Given the description of an element on the screen output the (x, y) to click on. 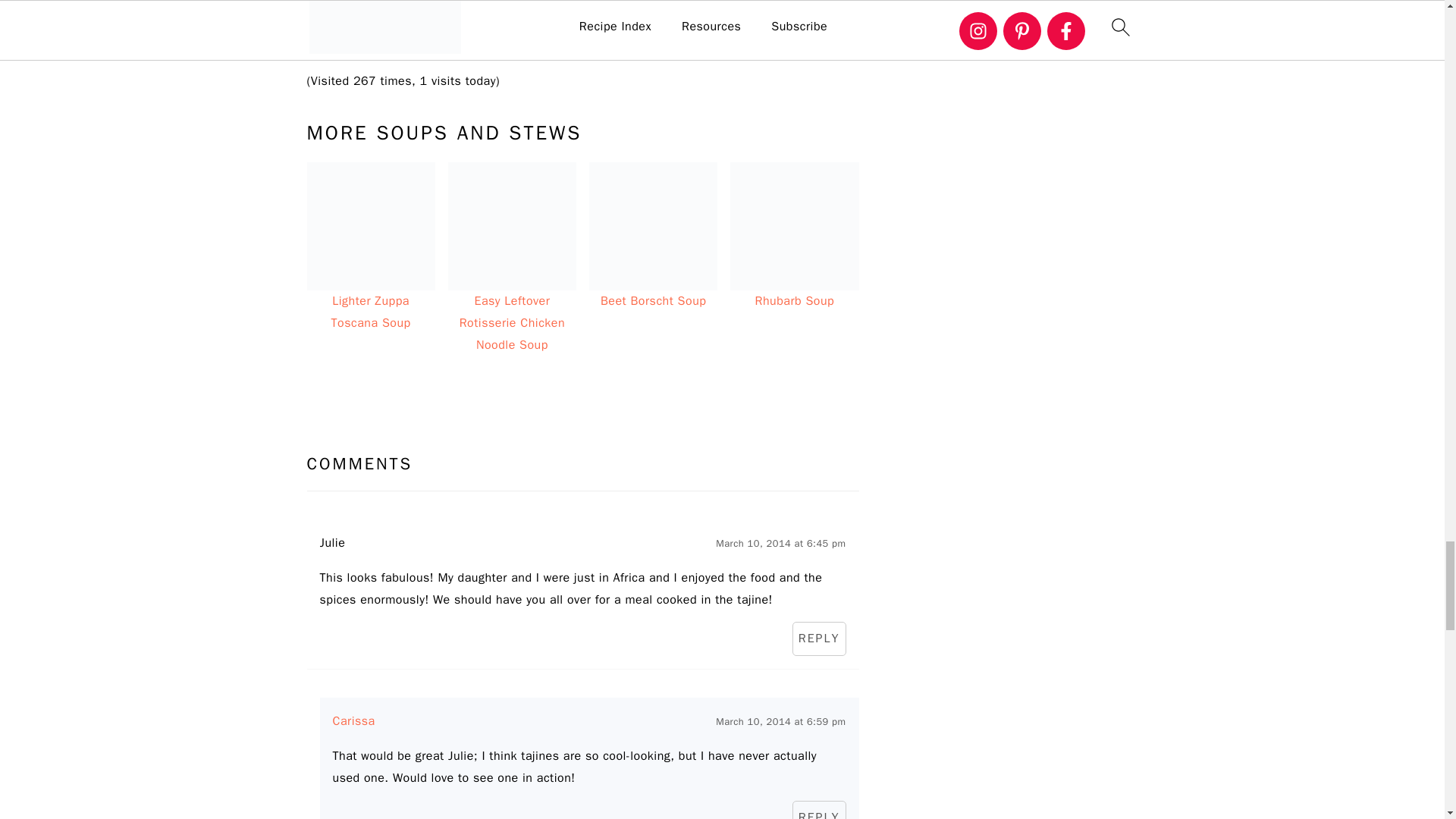
Rhubarb Soup (794, 226)
Beet Borscht Soup (653, 226)
Easy Leftover Rotisserie Chicken Noodle Soup (512, 226)
Lighter Zuppa Toscana Soup (369, 226)
